Given the description of an element on the screen output the (x, y) to click on. 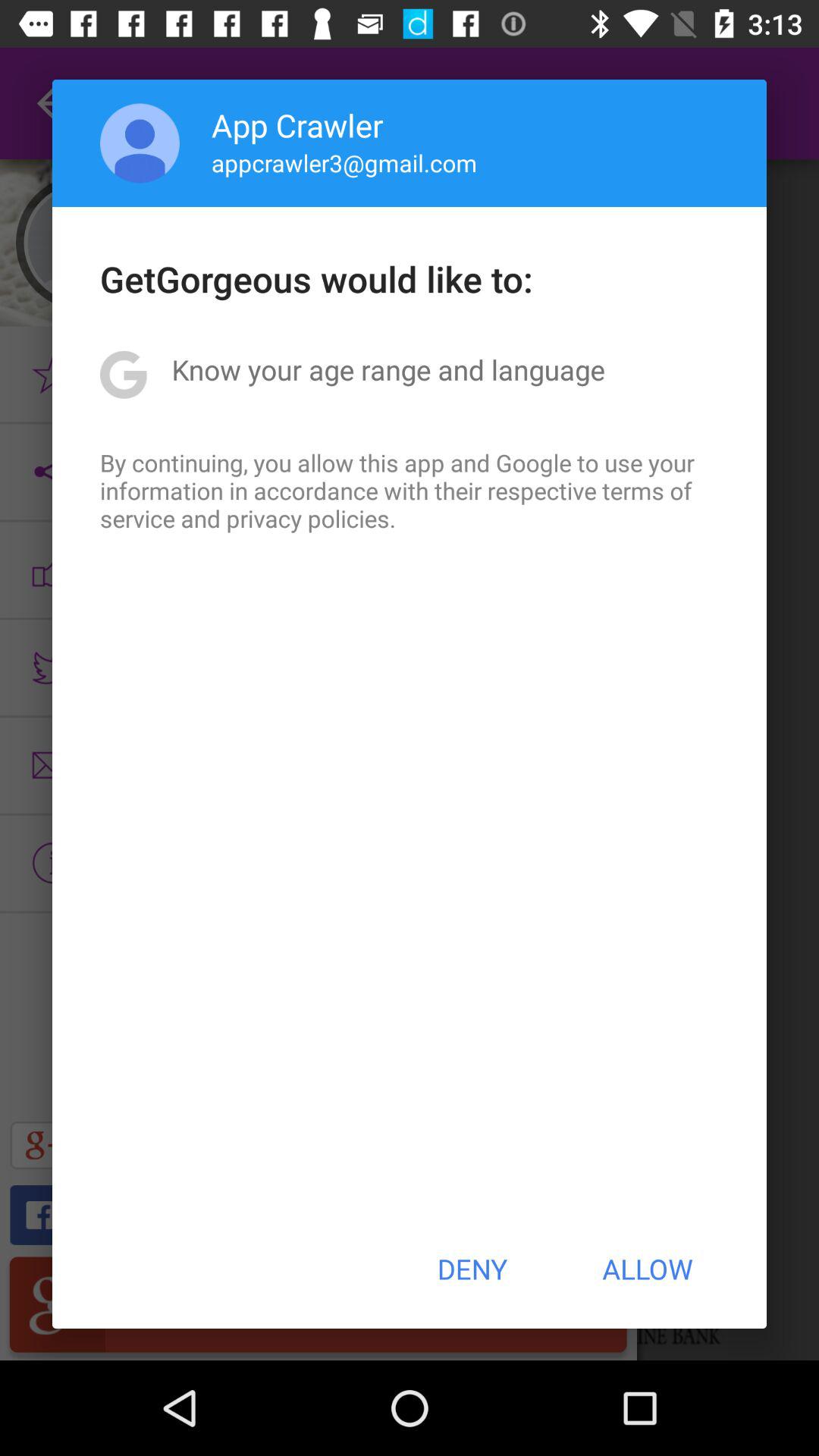
press icon at the bottom (471, 1268)
